Given the description of an element on the screen output the (x, y) to click on. 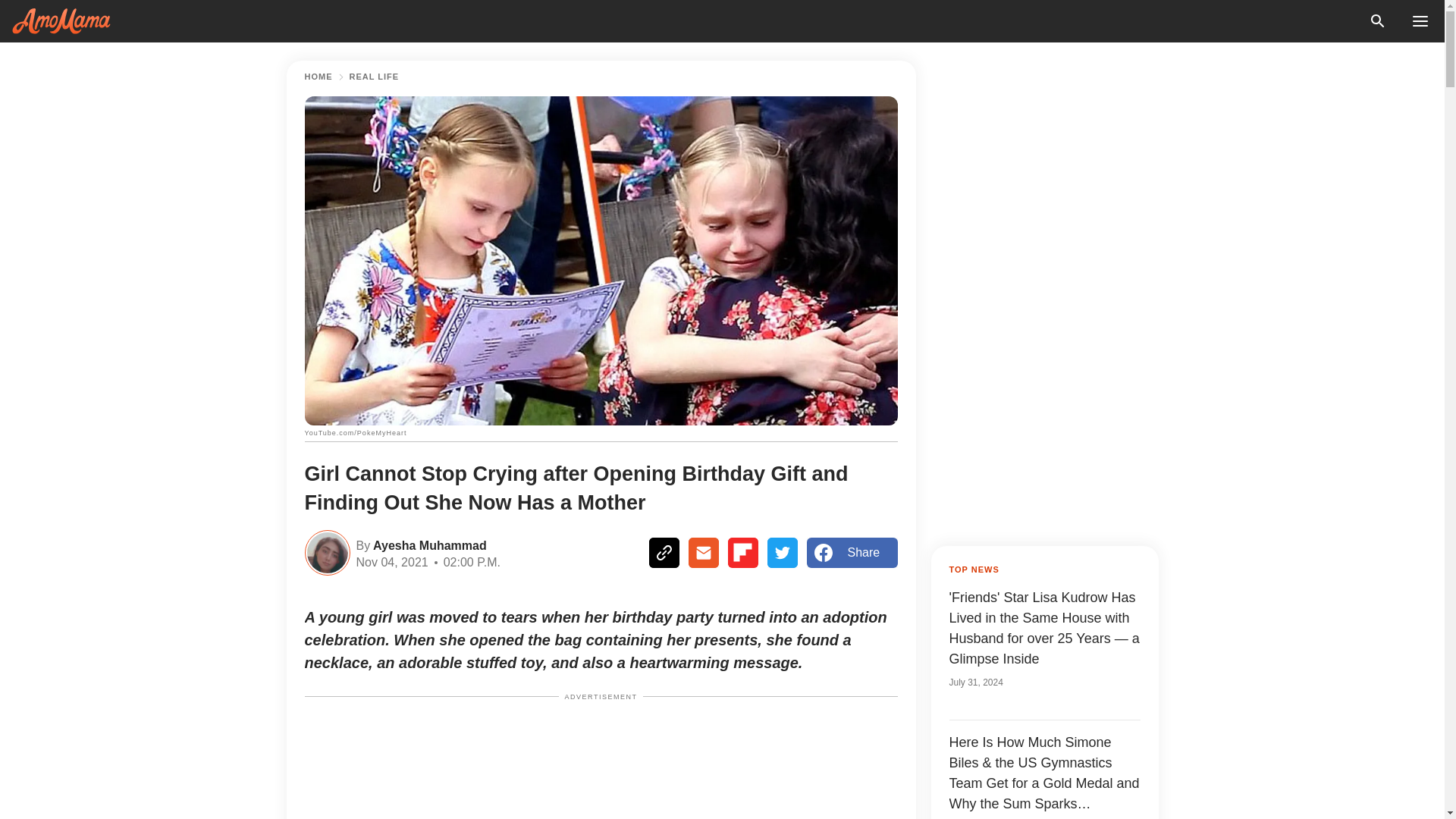
HOME (318, 76)
REAL LIFE (373, 76)
Ayesha Muhammad (427, 544)
